Given the description of an element on the screen output the (x, y) to click on. 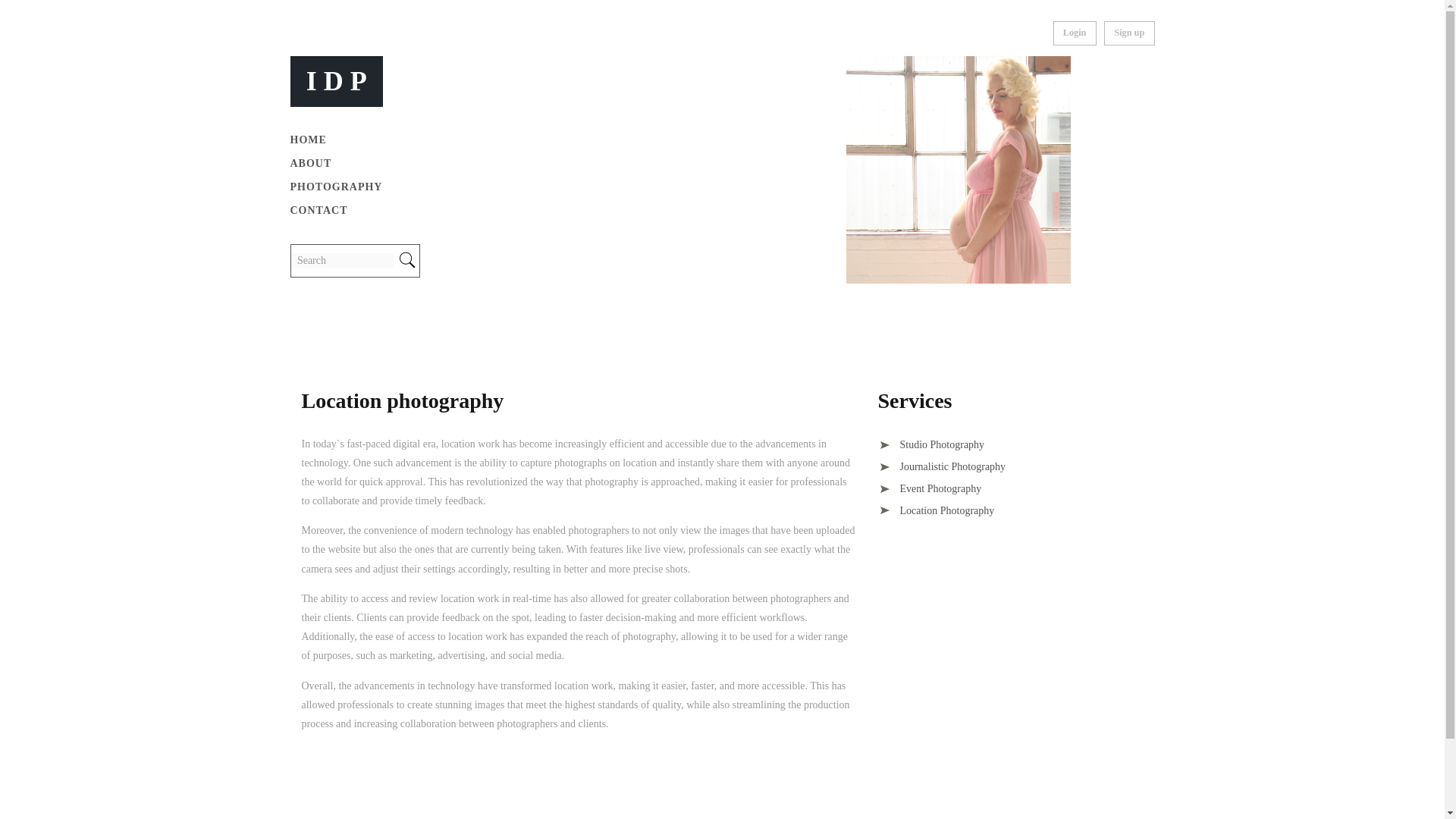
Journalistic Photography (941, 466)
Event Photography (929, 488)
HOME (307, 139)
PHOTOGRAPHY (335, 187)
Location Photography (935, 510)
Login (1074, 33)
ABOUT (310, 163)
CONTACT (318, 210)
Sign up (1128, 33)
I D P (335, 80)
Search (342, 260)
Studio Photography (931, 444)
